Given the description of an element on the screen output the (x, y) to click on. 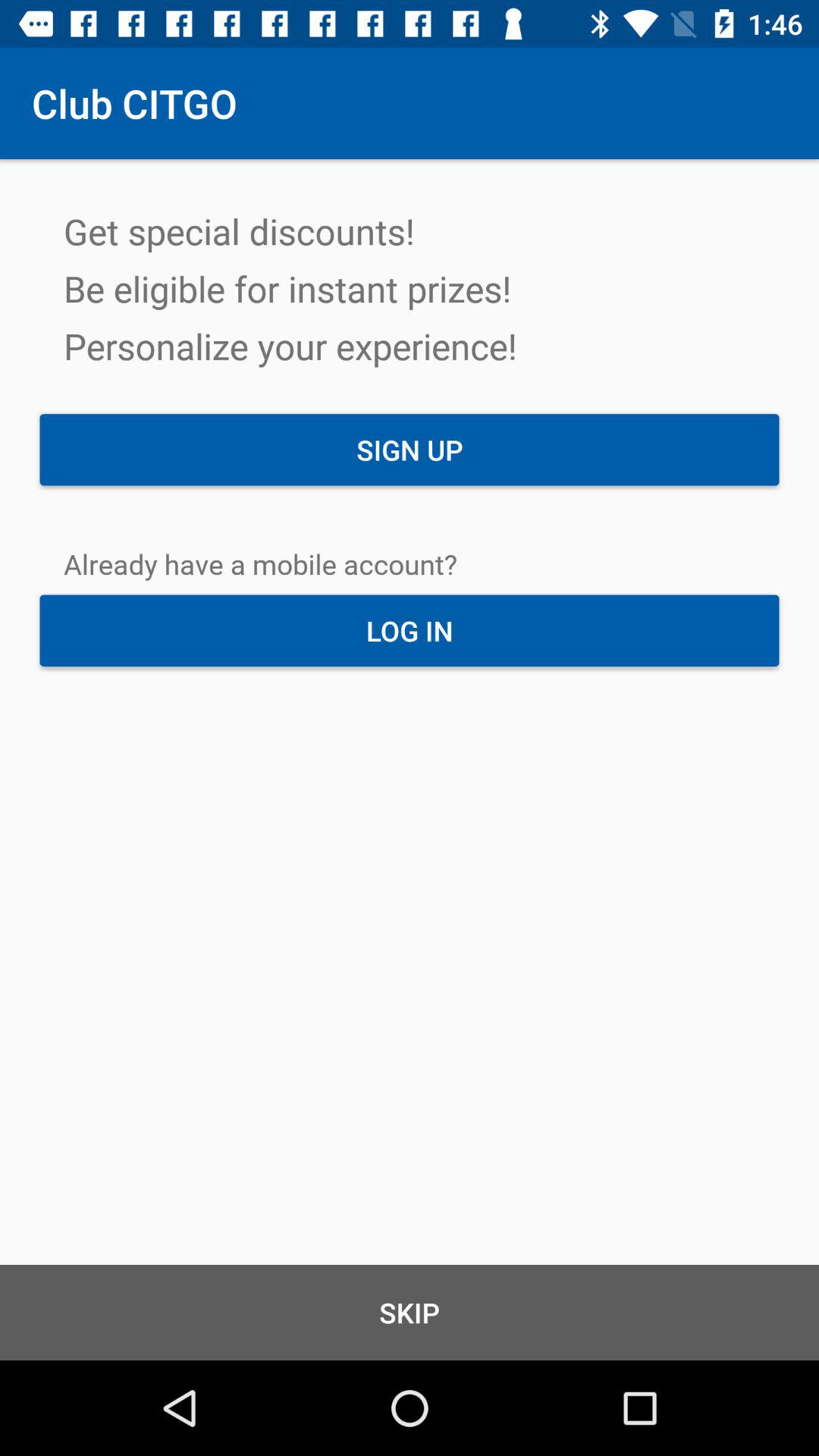
open item below the already have a (409, 630)
